Given the description of an element on the screen output the (x, y) to click on. 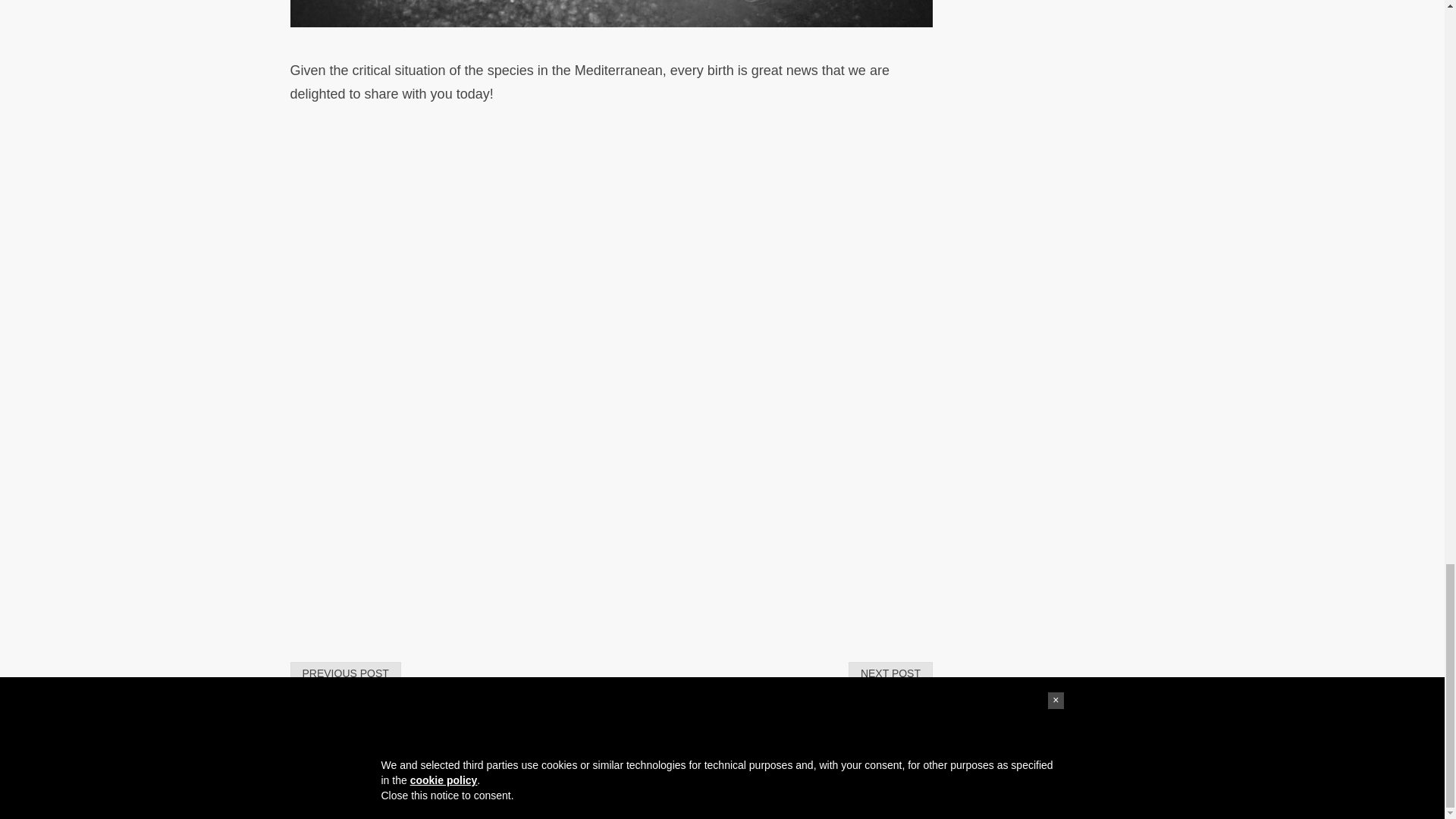
NEXT POST (890, 673)
Privacy (696, 796)
PREVIOUS POST (344, 673)
Cookie Policy (755, 796)
Cookie (755, 796)
Privacy Policy (696, 796)
Octopus world (558, 796)
